Given the description of an element on the screen output the (x, y) to click on. 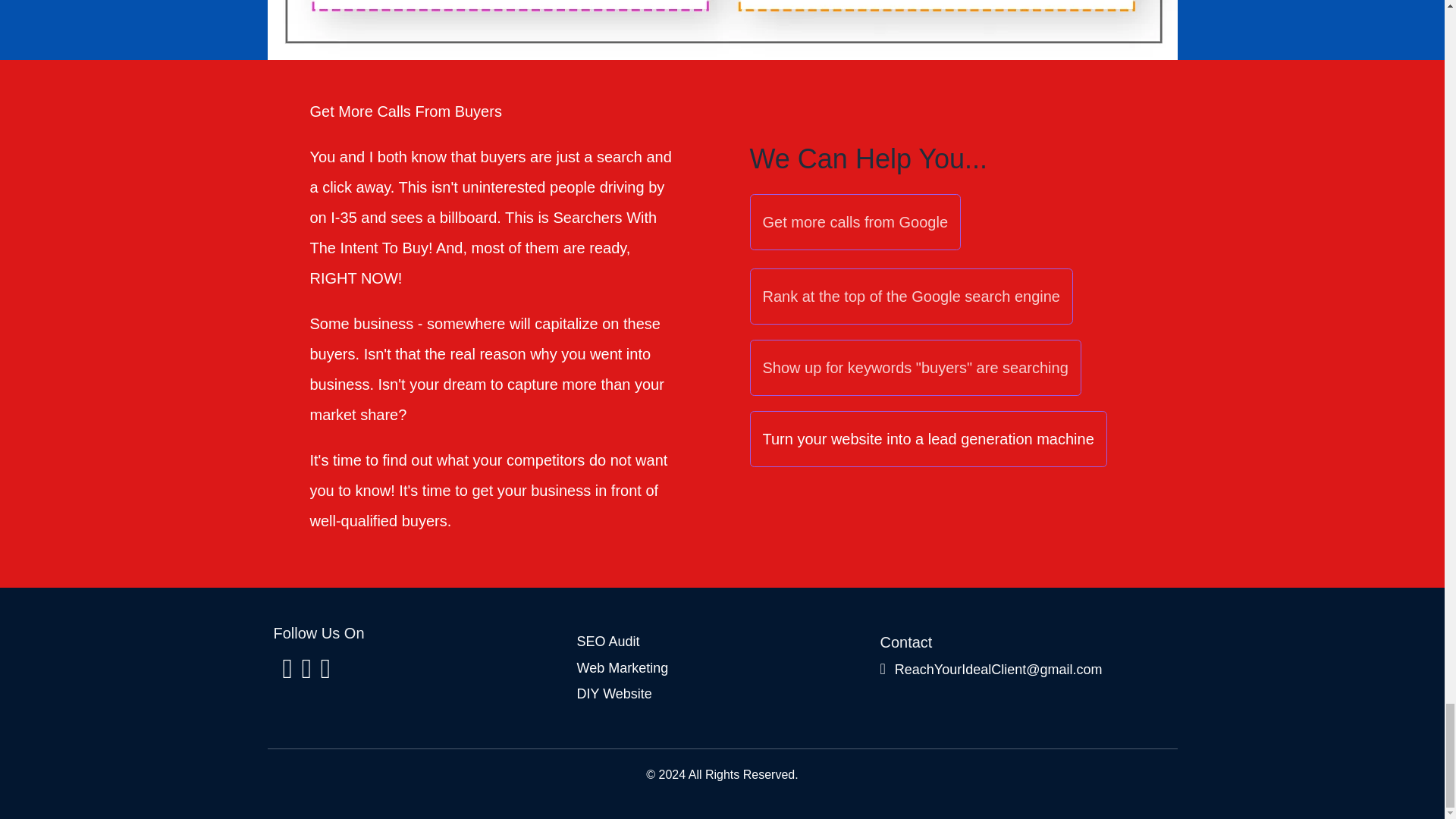
DIY Website (613, 693)
website (856, 438)
SEO Audit (607, 641)
Web Marketing (622, 668)
